Given the description of an element on the screen output the (x, y) to click on. 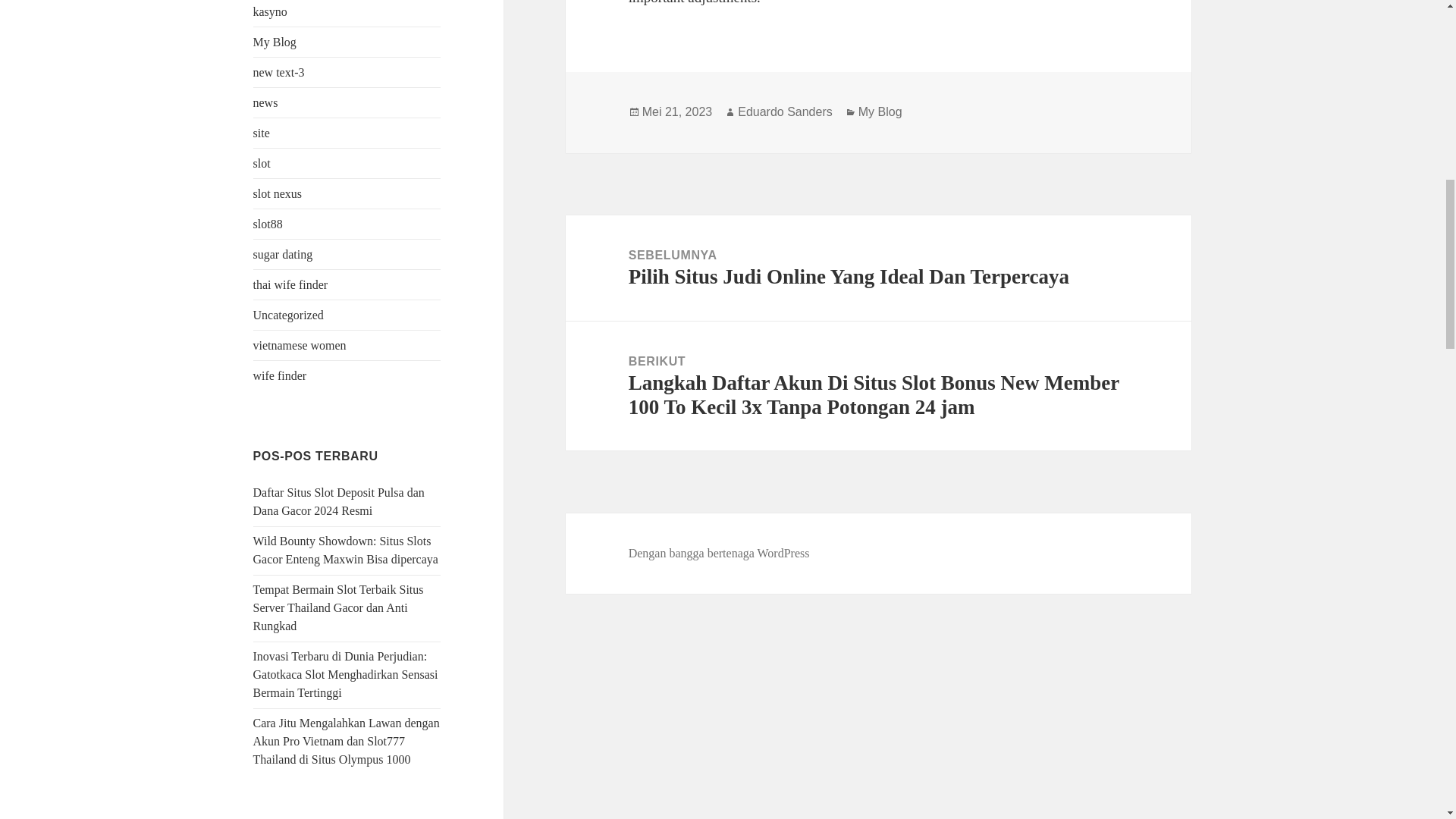
slot nexus (277, 193)
site (261, 132)
wife finder (280, 375)
Uncategorized (288, 314)
slot88 (267, 223)
Daftar Situs Slot Deposit Pulsa dan Dana Gacor 2024 Resmi (339, 501)
new text-3 (278, 72)
slot (261, 163)
news (265, 102)
My Blog (275, 42)
sugar dating (283, 254)
